Given the description of an element on the screen output the (x, y) to click on. 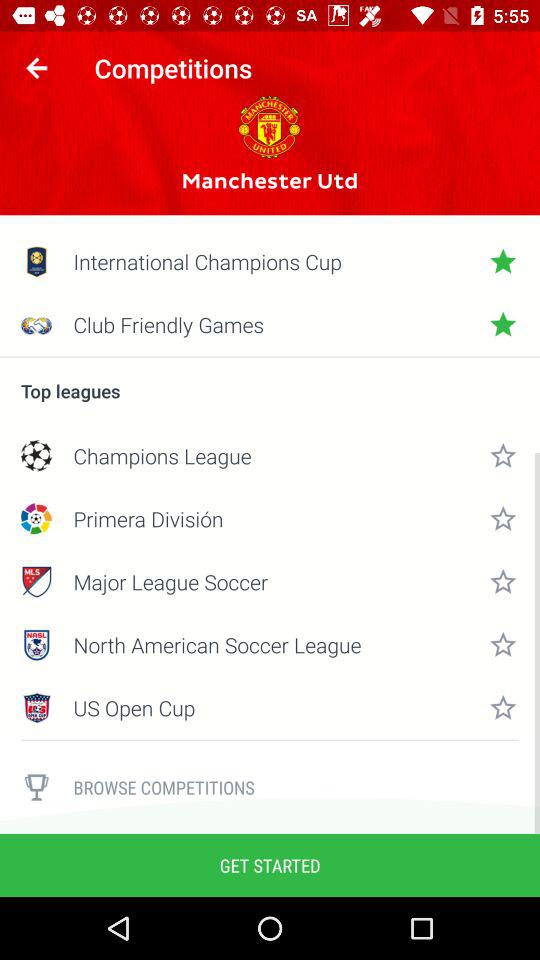
flip until club friendly games item (269, 324)
